Given the description of an element on the screen output the (x, y) to click on. 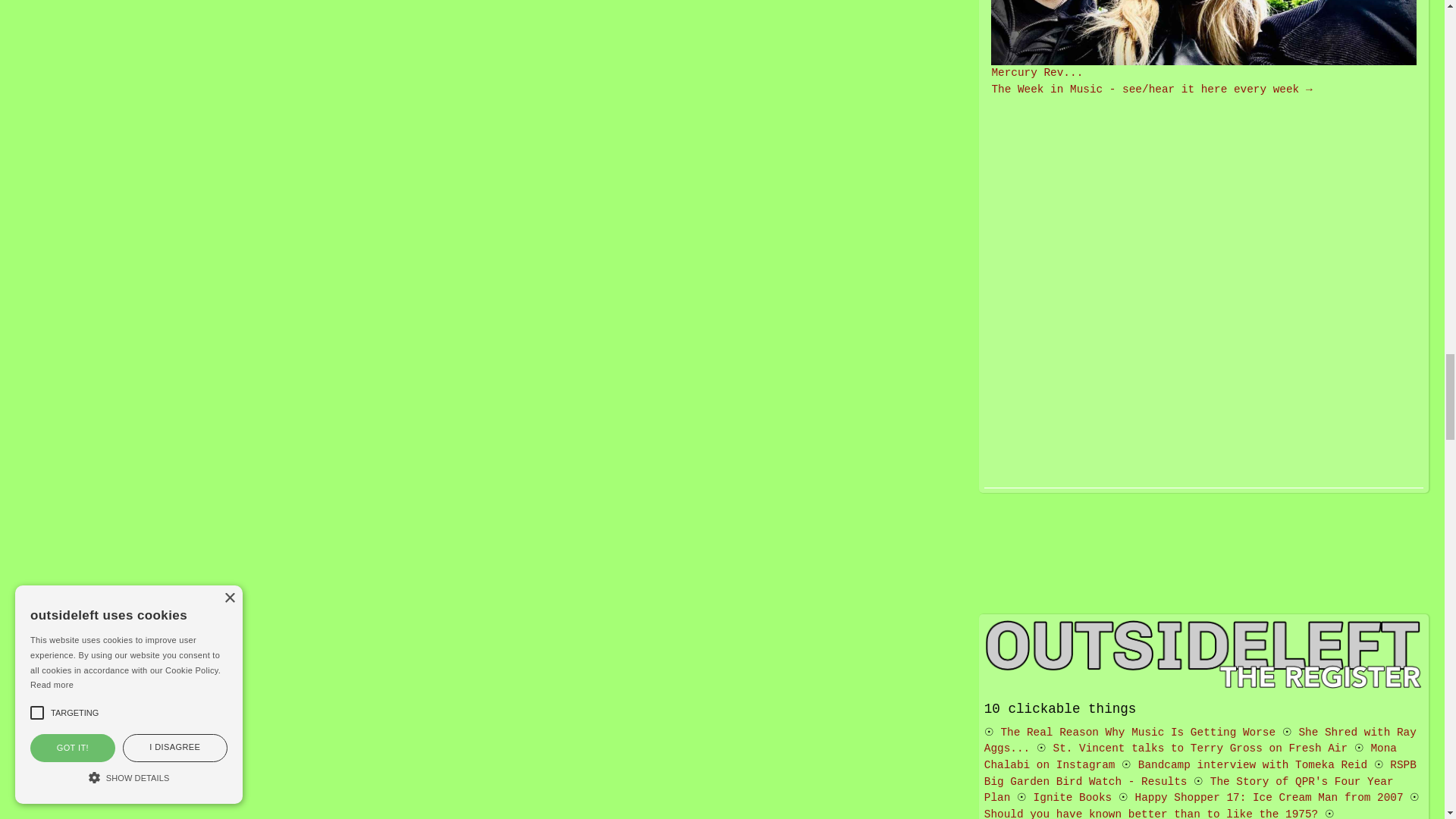
The Real Reason Why Music Is Getting Worse (1137, 732)
